Given the description of an element on the screen output the (x, y) to click on. 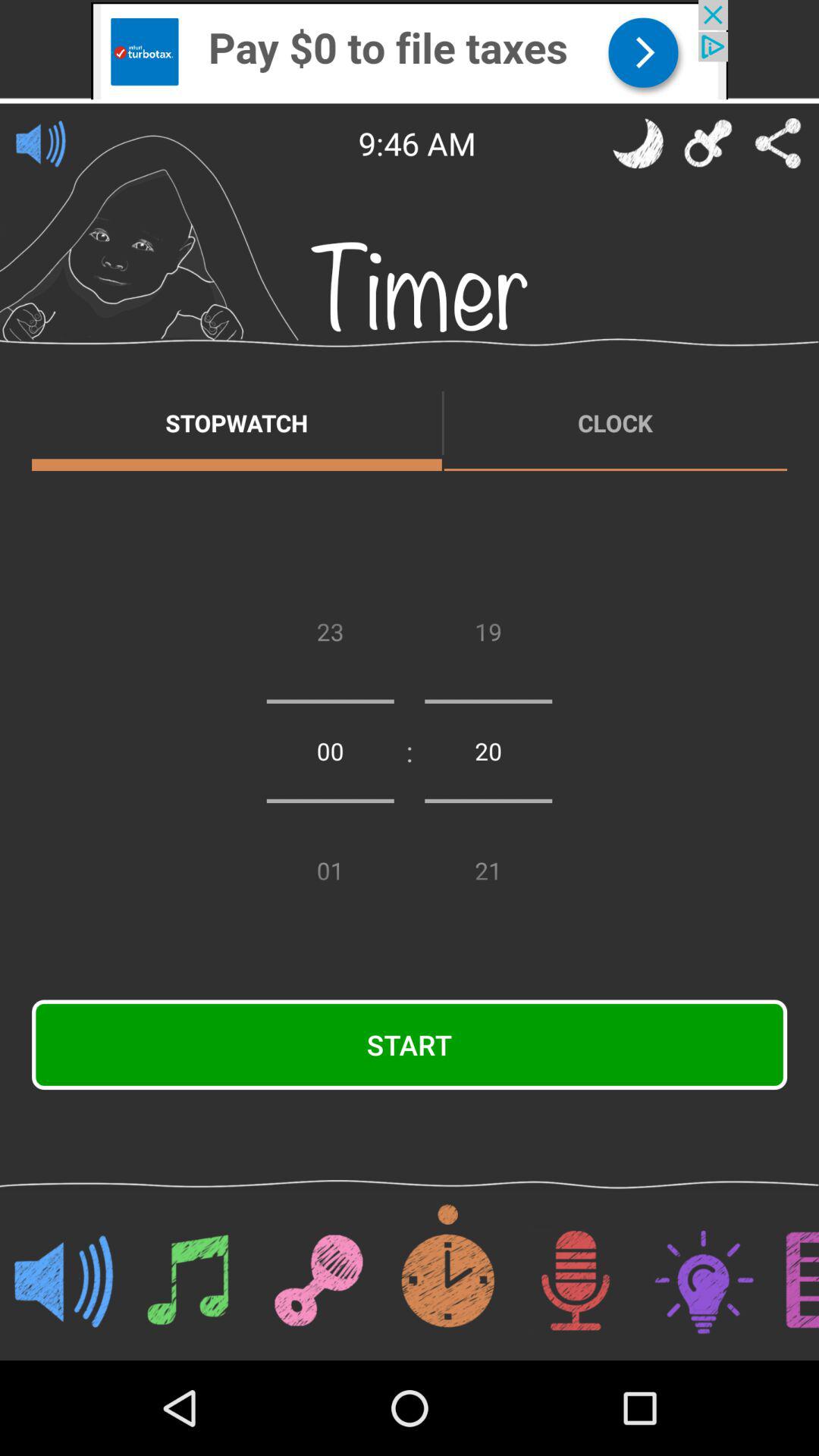
change the volume (40, 143)
